Given the description of an element on the screen output the (x, y) to click on. 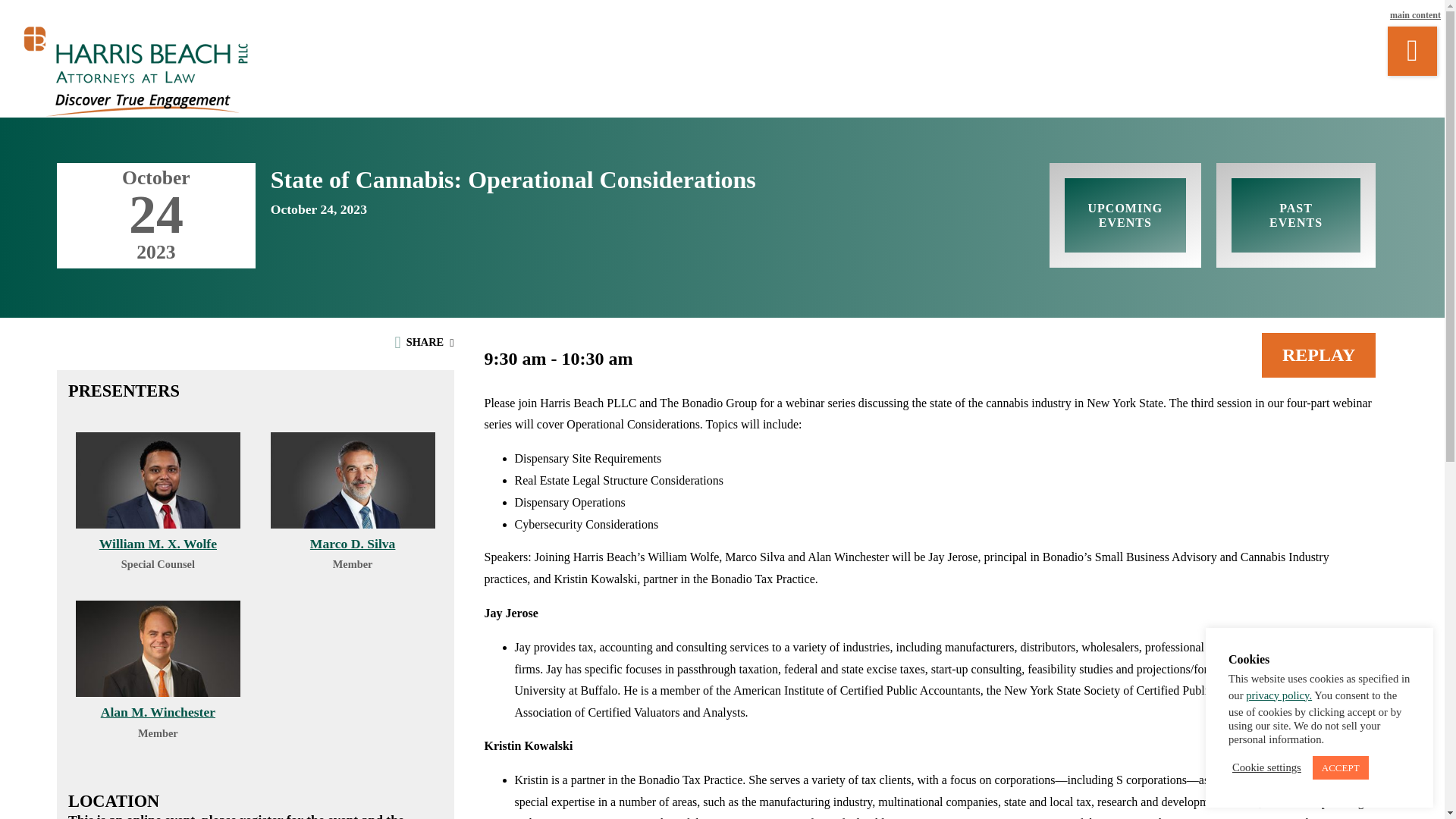
main content (1415, 14)
